Given the description of an element on the screen output the (x, y) to click on. 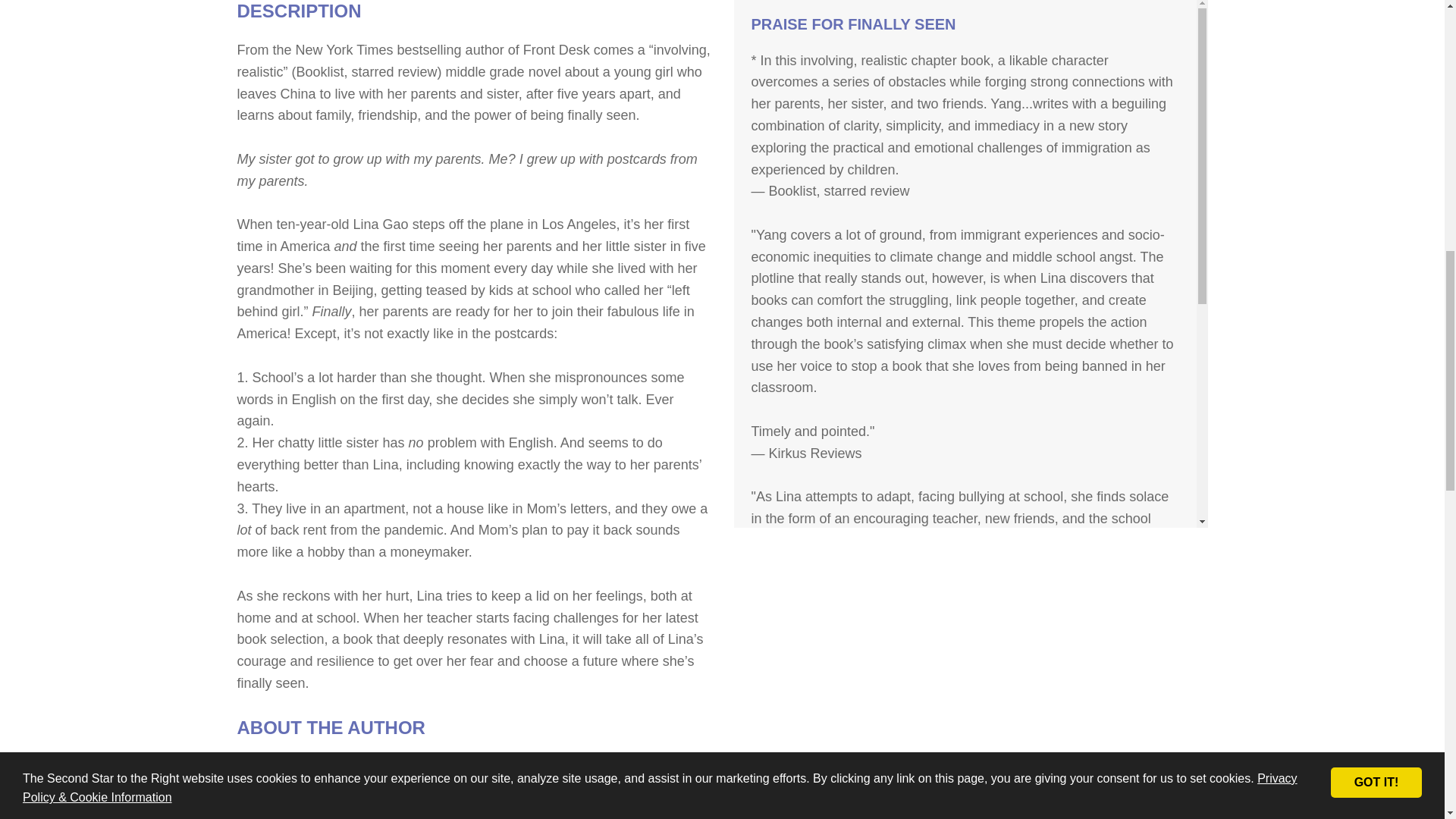
GOT IT! (1376, 55)
